Given the description of an element on the screen output the (x, y) to click on. 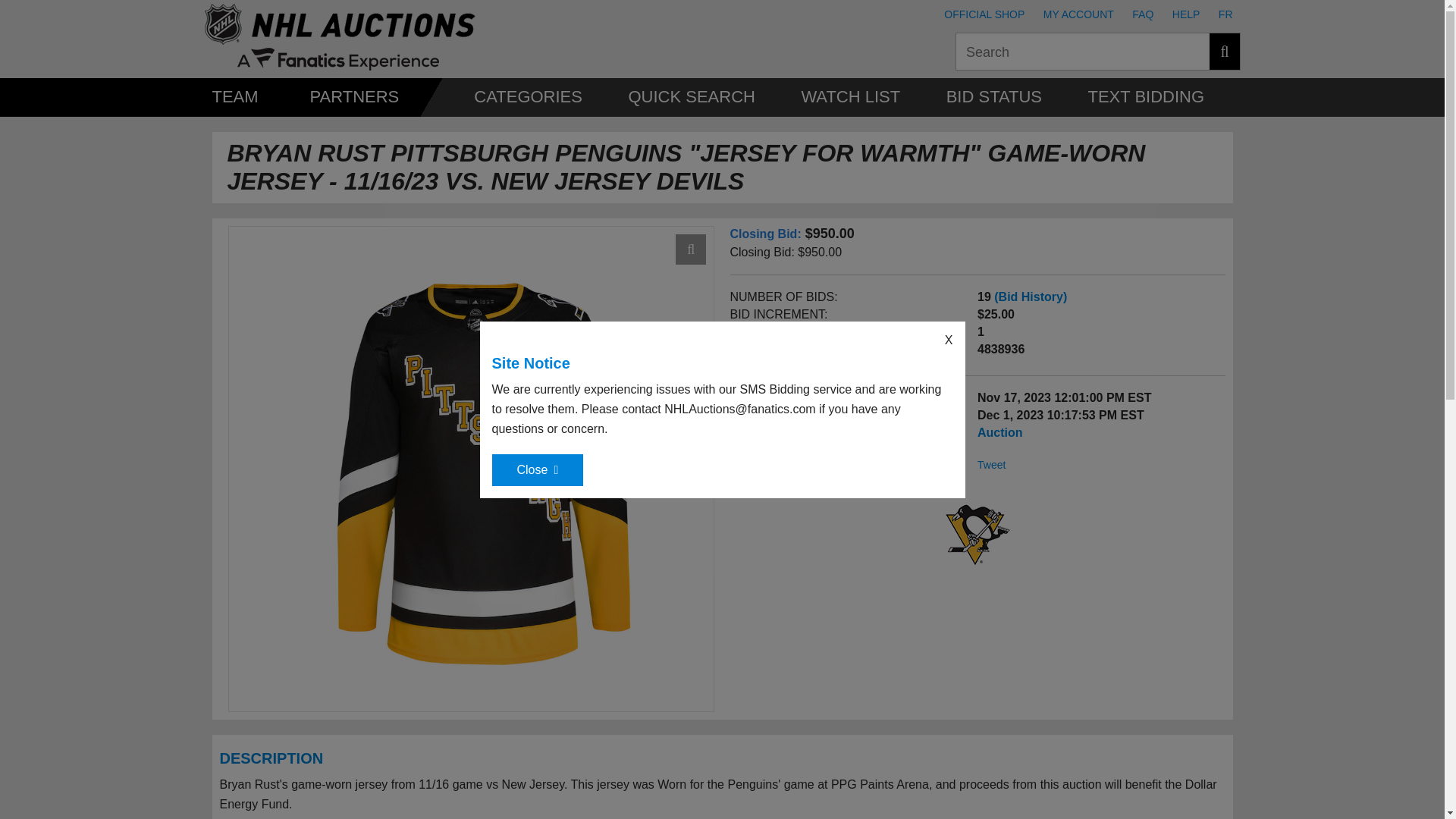
TEAM (235, 96)
MY ACCOUNT (1078, 14)
FR (1225, 14)
FAQ (1142, 14)
HELP (1185, 14)
OFFICIAL SHOP (984, 14)
